Given the description of an element on the screen output the (x, y) to click on. 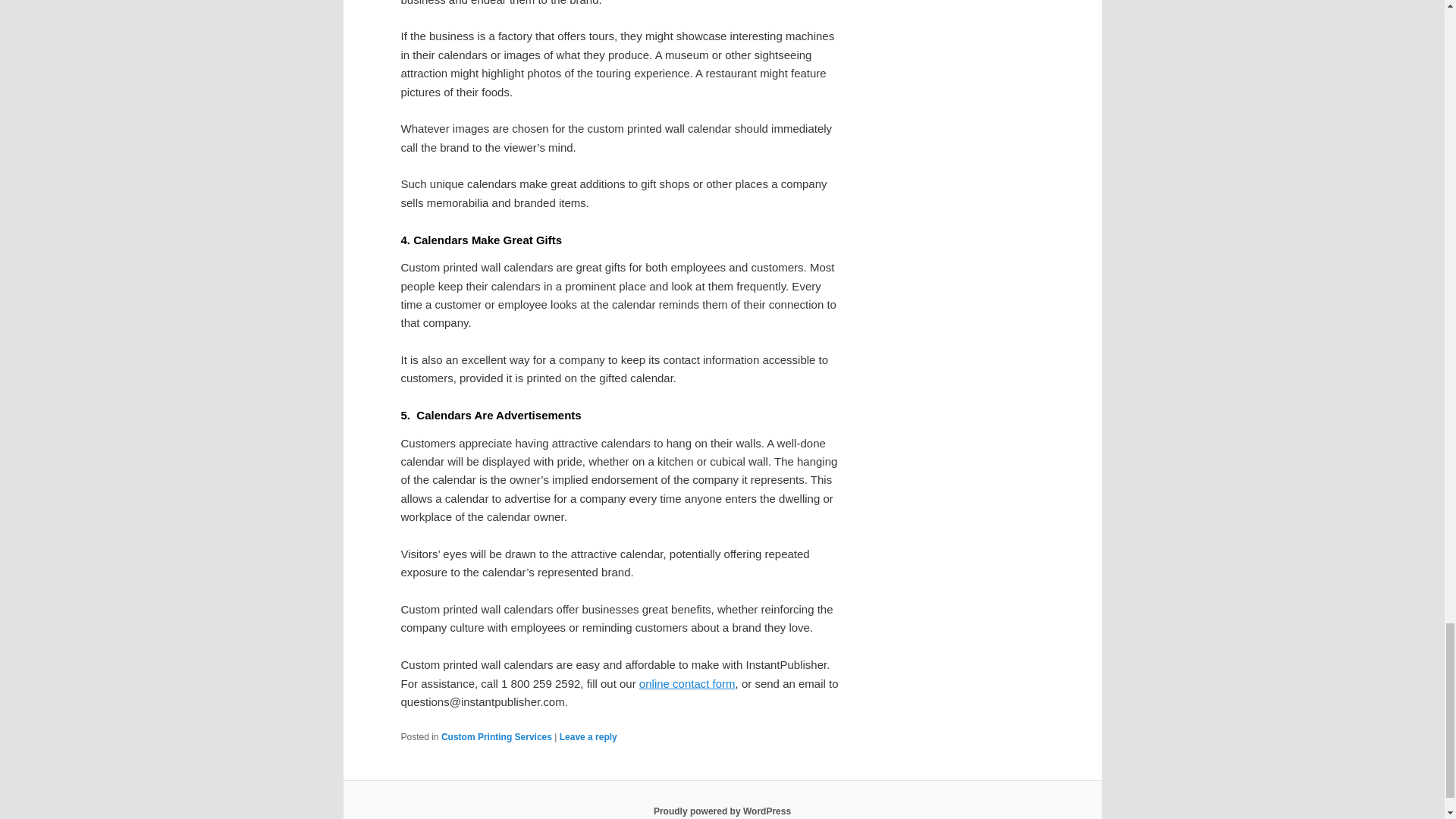
Leave a reply (588, 737)
Semantic Personal Publishing Platform (721, 810)
Custom Printing Services (496, 737)
online contact form (687, 683)
